Given the description of an element on the screen output the (x, y) to click on. 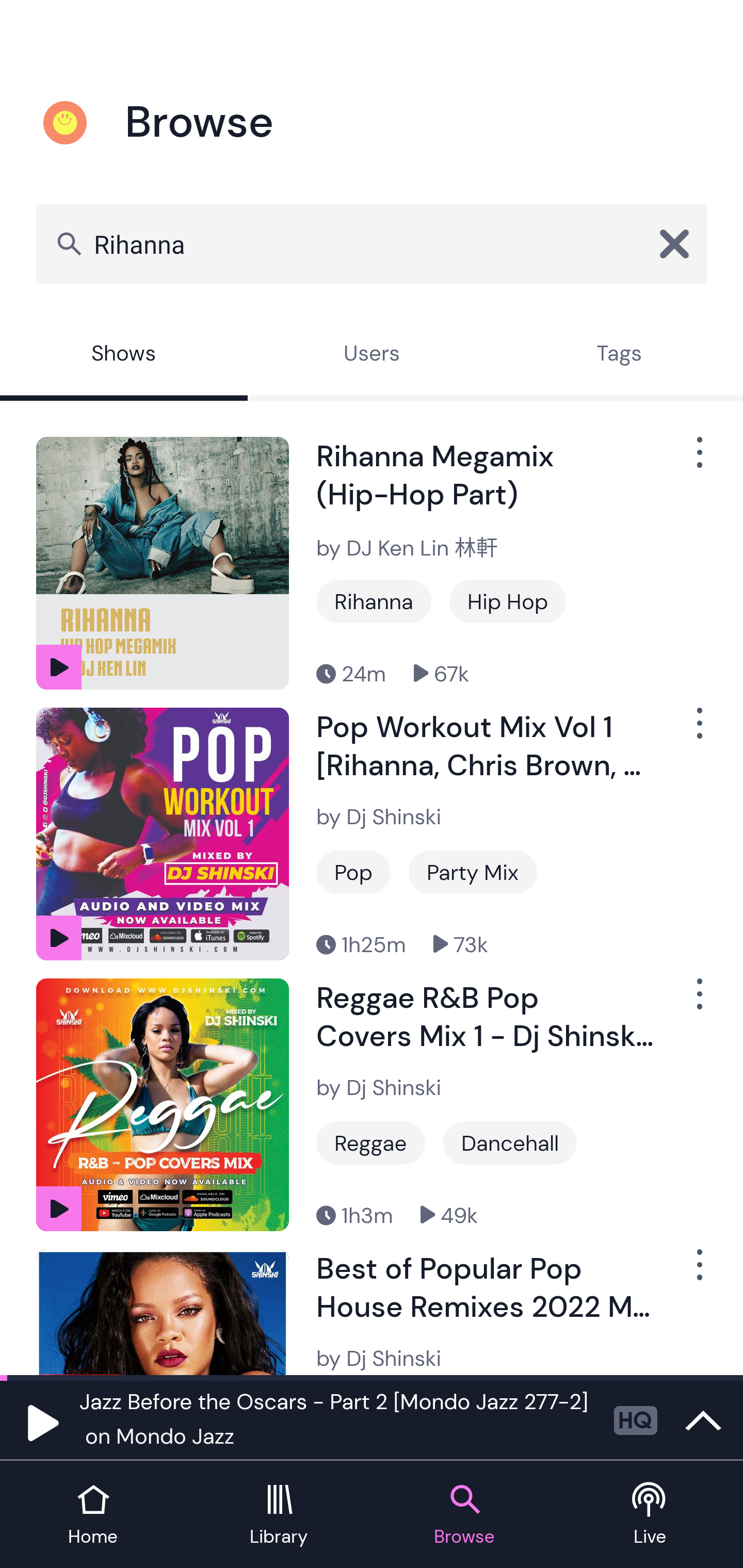
Rihanna (371, 243)
Shows (123, 355)
Users (371, 355)
Tags (619, 355)
Show Options Menu Button (697, 460)
Rihanna (373, 601)
Hip Hop (507, 601)
Show Options Menu Button (697, 730)
Pop (353, 871)
Party Mix (472, 871)
Show Options Menu Button (697, 1001)
Reggae (370, 1143)
Dancehall (509, 1143)
Show Options Menu Button (697, 1272)
Home tab Home (92, 1515)
Library tab Library (278, 1515)
Browse tab Browse (464, 1515)
Live tab Live (650, 1515)
